Given the description of an element on the screen output the (x, y) to click on. 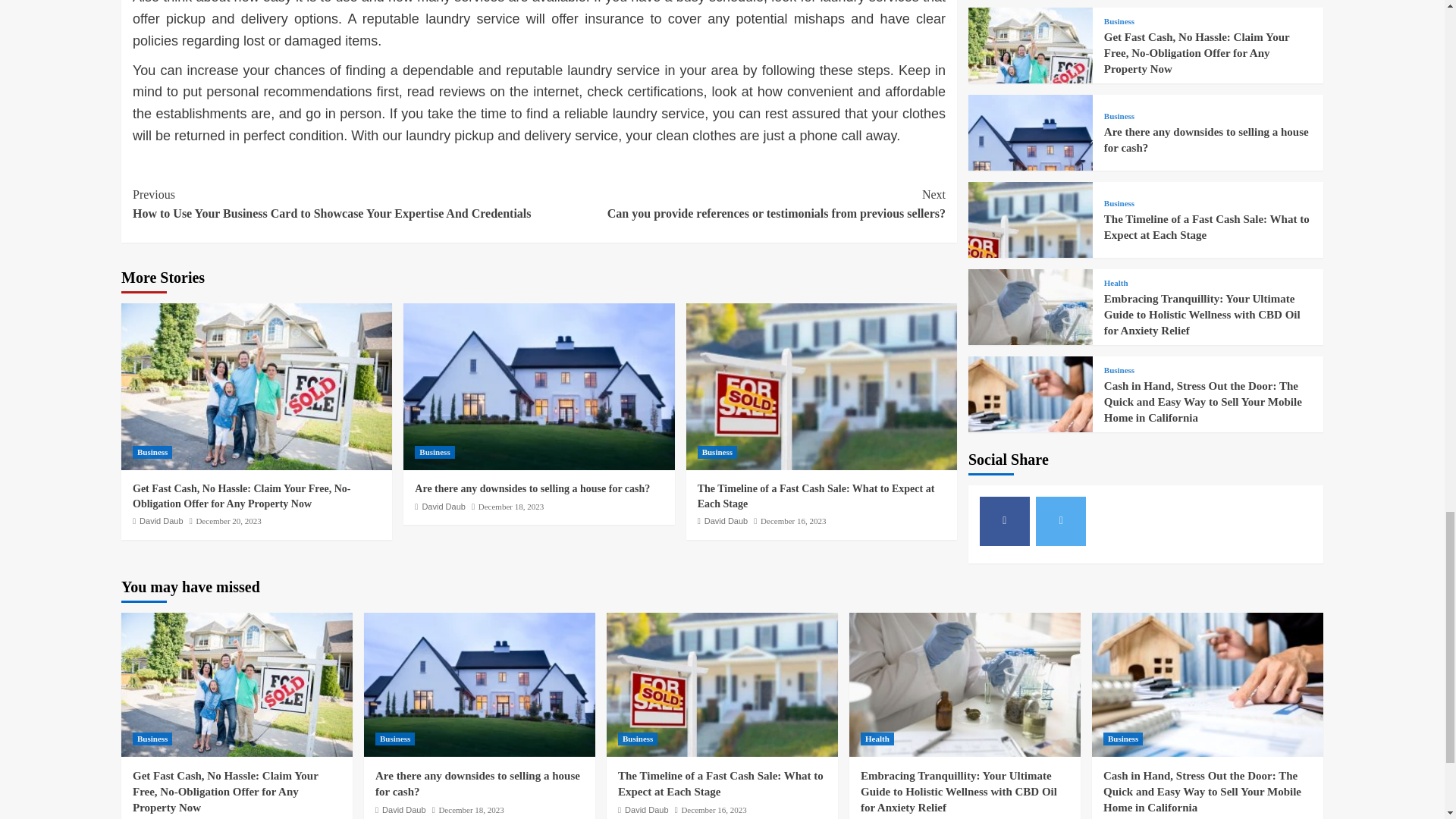
Are there any downsides to selling a house for cash? (531, 488)
David Daub (726, 520)
December 18, 2023 (511, 506)
Business (434, 451)
David Daub (443, 506)
December 20, 2023 (227, 520)
